Given the description of an element on the screen output the (x, y) to click on. 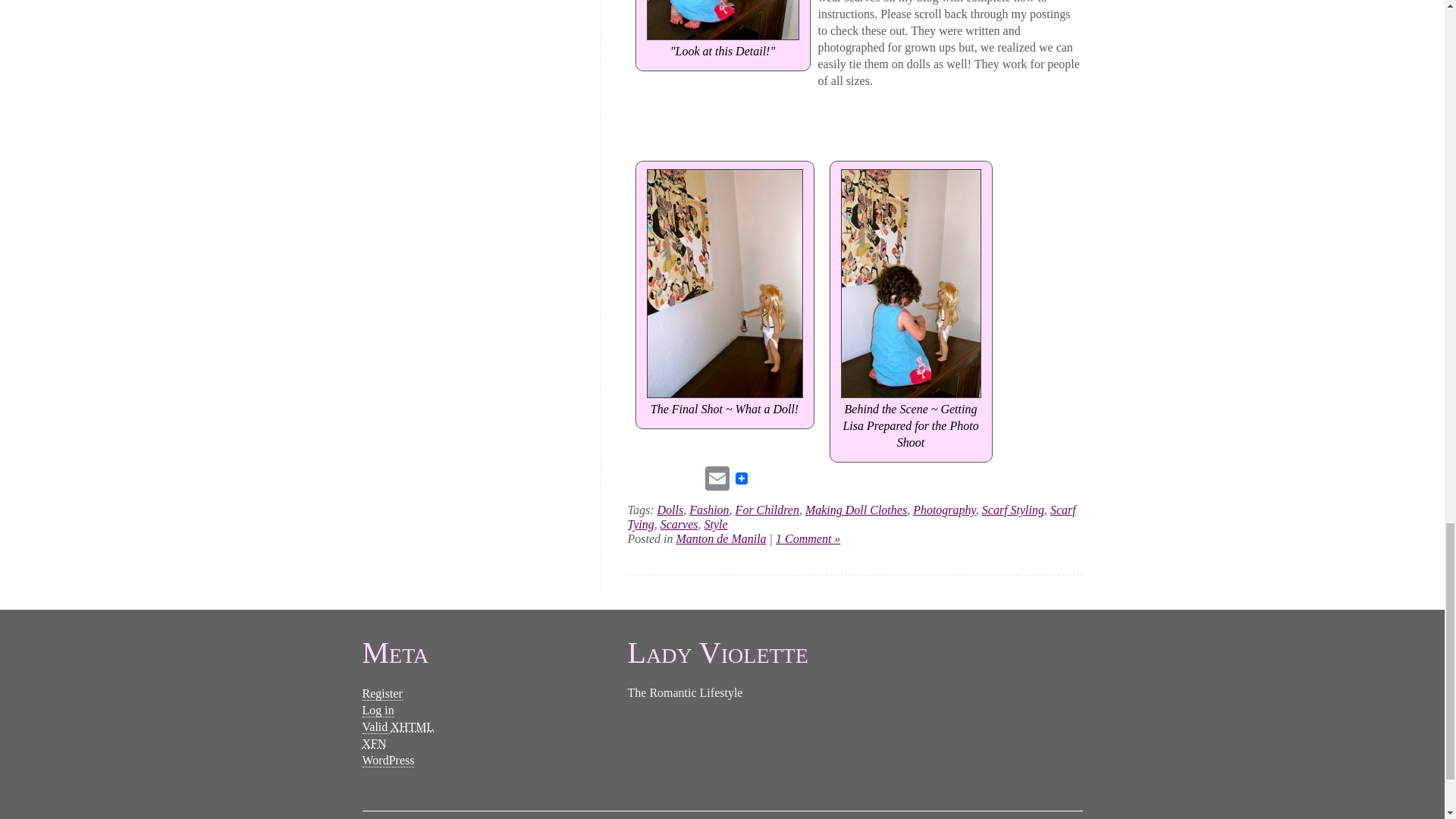
Manton de Manila (722, 538)
Dolls (669, 509)
Email (716, 478)
eXtensible HyperText Markup Language (411, 726)
CIMG4509 (721, 20)
Scarf Styling (1012, 509)
Scarf Tying (851, 516)
XHTML Friends Network (374, 744)
Photography (943, 509)
Scarves (679, 523)
